Given the description of an element on the screen output the (x, y) to click on. 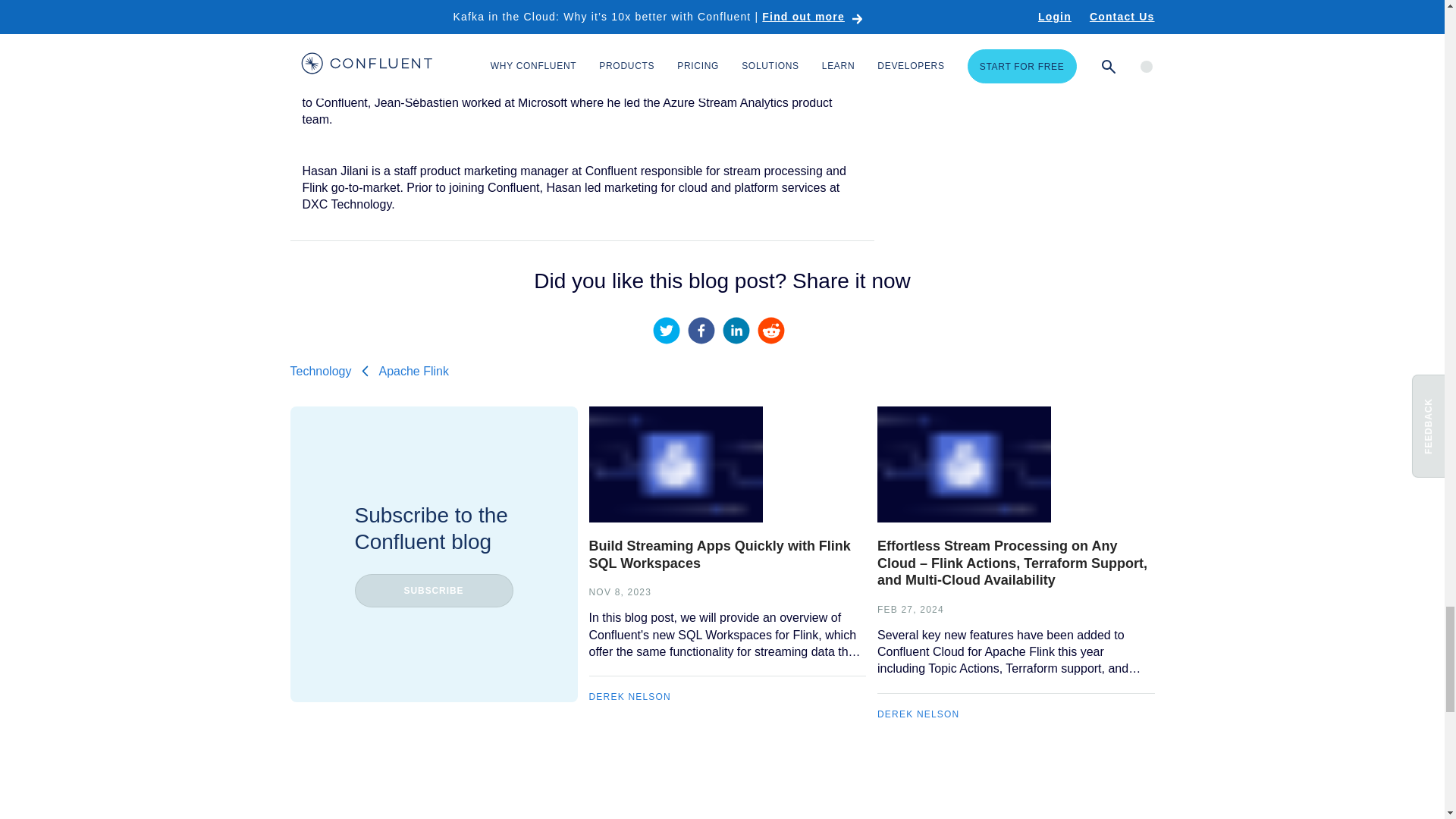
View all posts by Derek Nelson (918, 714)
View all posts by Derek Nelson (628, 696)
